Given the description of an element on the screen output the (x, y) to click on. 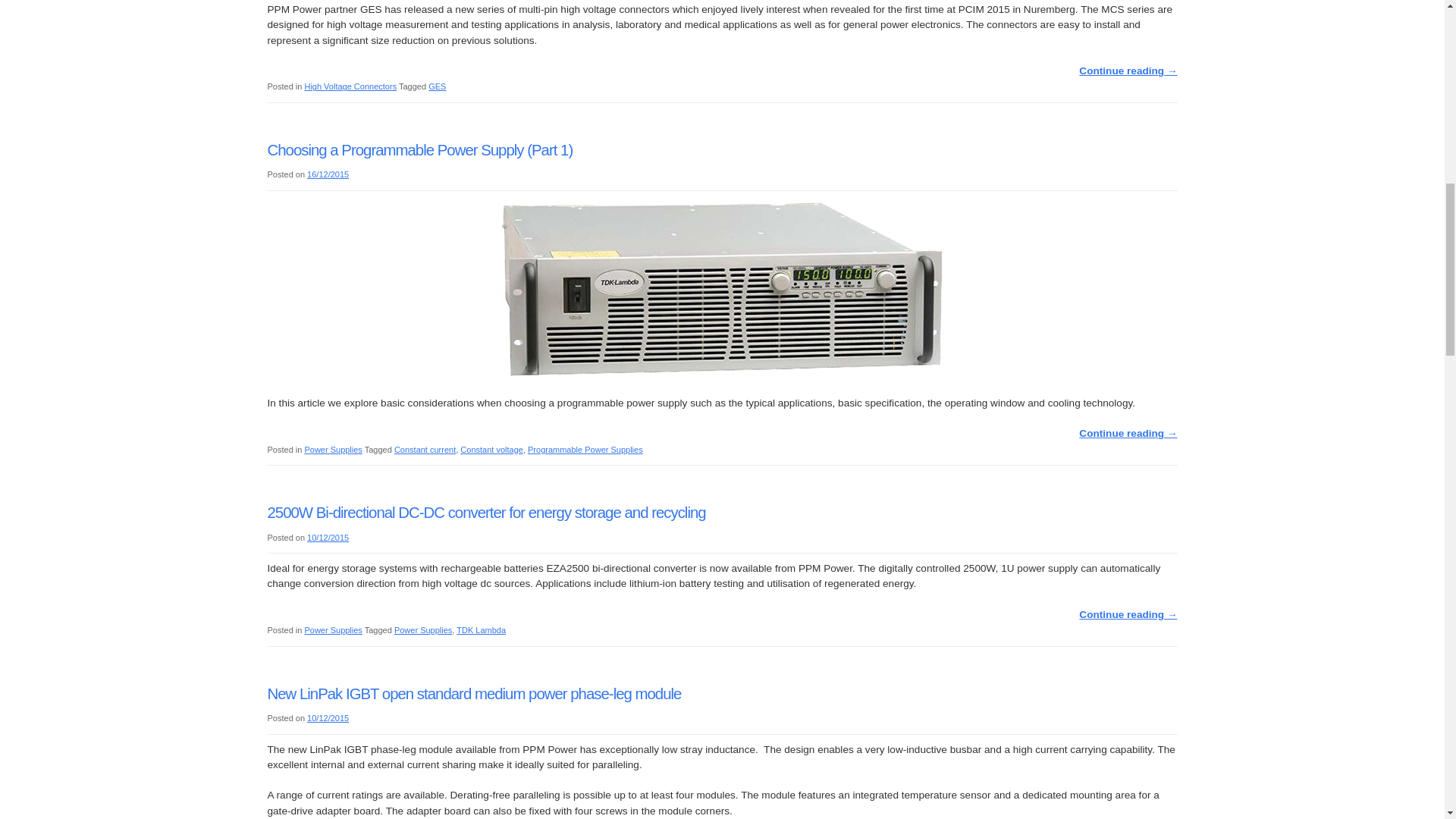
2:40 pm (328, 174)
